Given the description of an element on the screen output the (x, y) to click on. 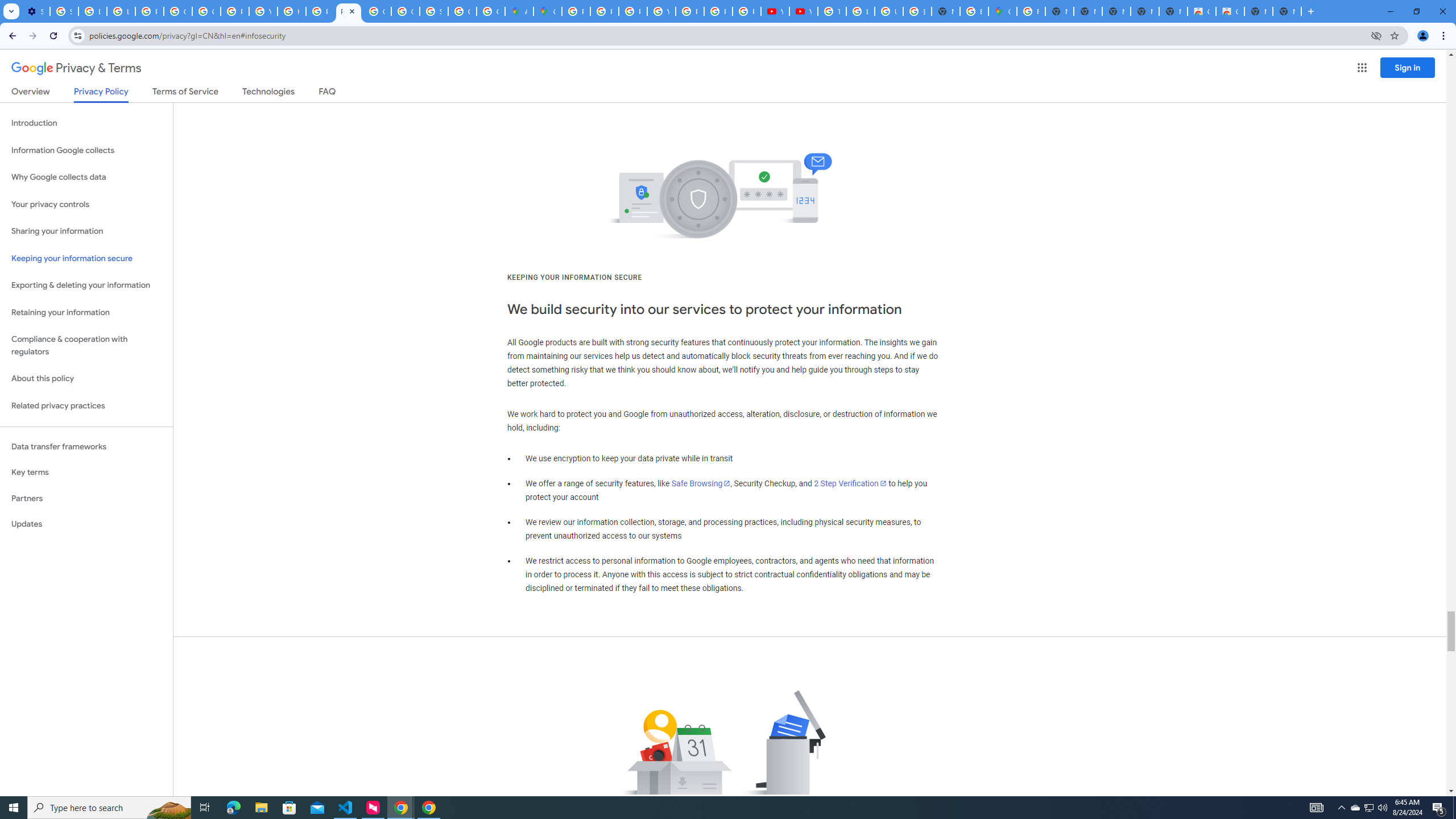
Retaining your information (86, 312)
2 Step Verification (849, 483)
Delete photos & videos - Computer - Google Photos Help (92, 11)
Tips & tricks for Chrome - Google Chrome Help (831, 11)
About this policy (86, 379)
Data transfer frameworks (86, 446)
